Given the description of an element on the screen output the (x, y) to click on. 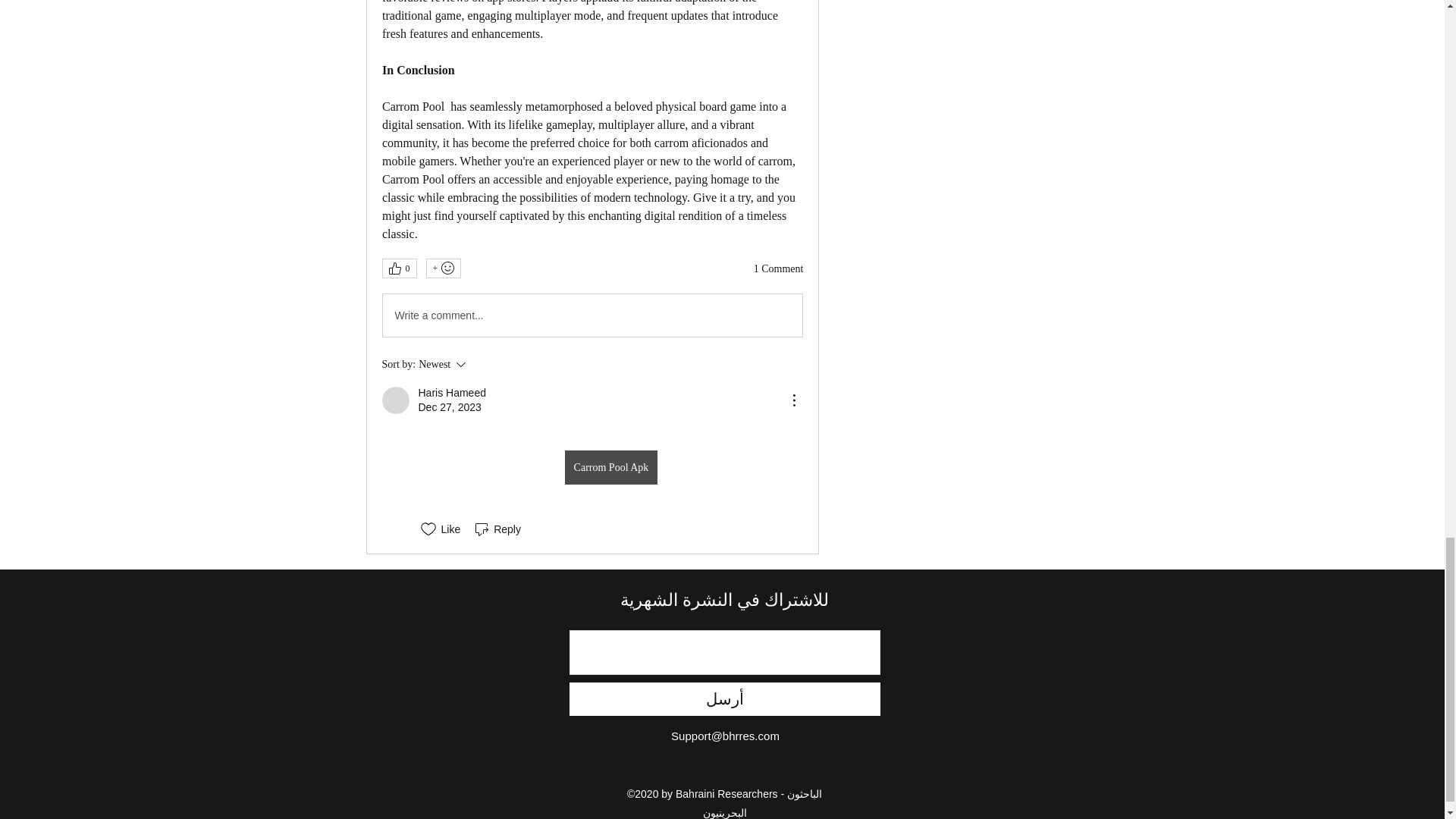
Haris Hameed (395, 400)
Reply (496, 529)
Haris Hameed (452, 392)
Carrom Pool Apk (487, 364)
Write a comment... (611, 467)
on (591, 315)
